Given the description of an element on the screen output the (x, y) to click on. 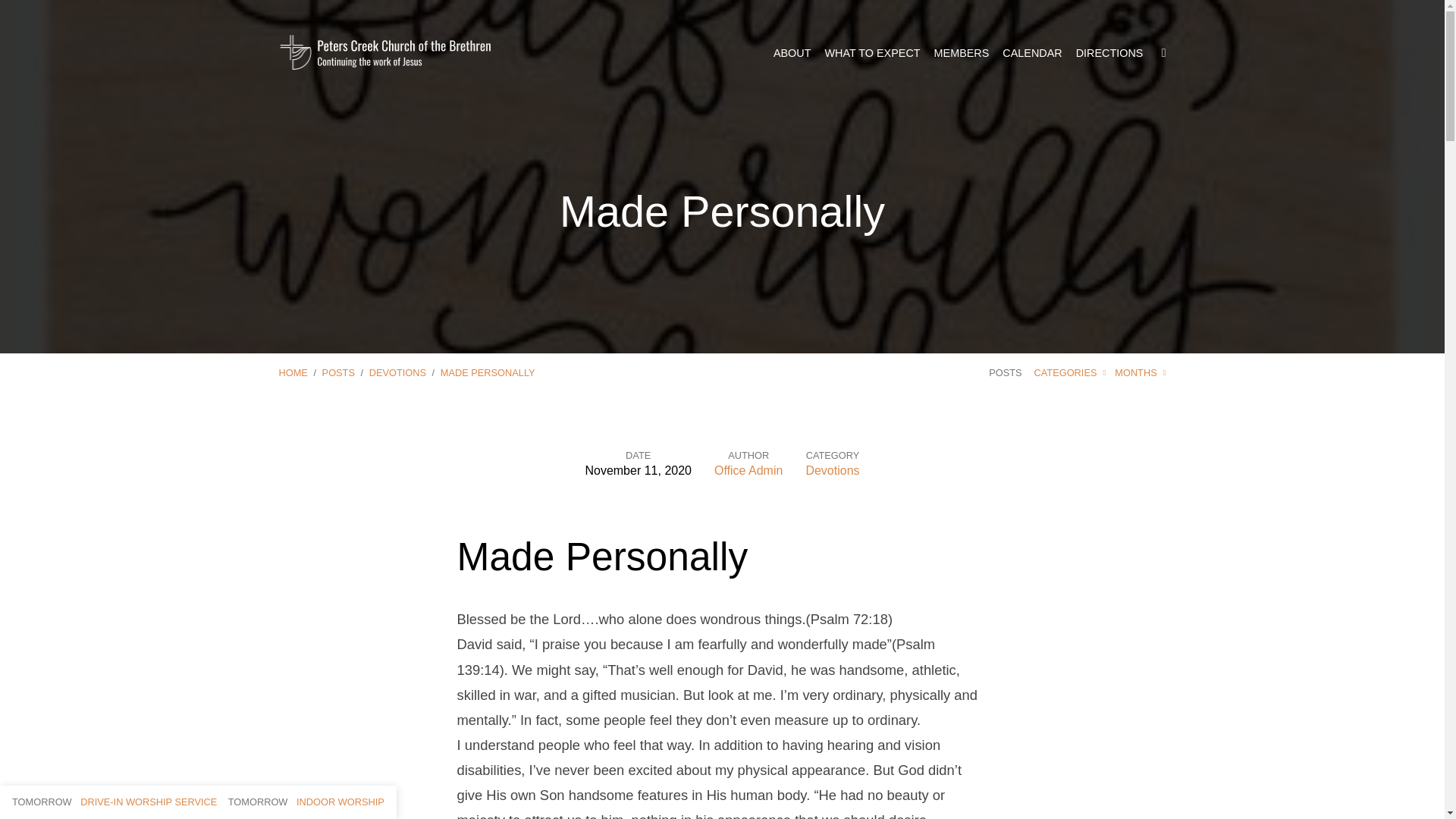
WHAT TO EXPECT (872, 52)
MADE PERSONALLY (488, 372)
HOME (293, 372)
MEMBERS (962, 52)
POSTS (1005, 372)
Drive-In Worship Service (113, 801)
POSTS (338, 372)
DIRECTIONS (1108, 52)
DEVOTIONS (397, 372)
CATEGORIES (1069, 372)
